Given the description of an element on the screen output the (x, y) to click on. 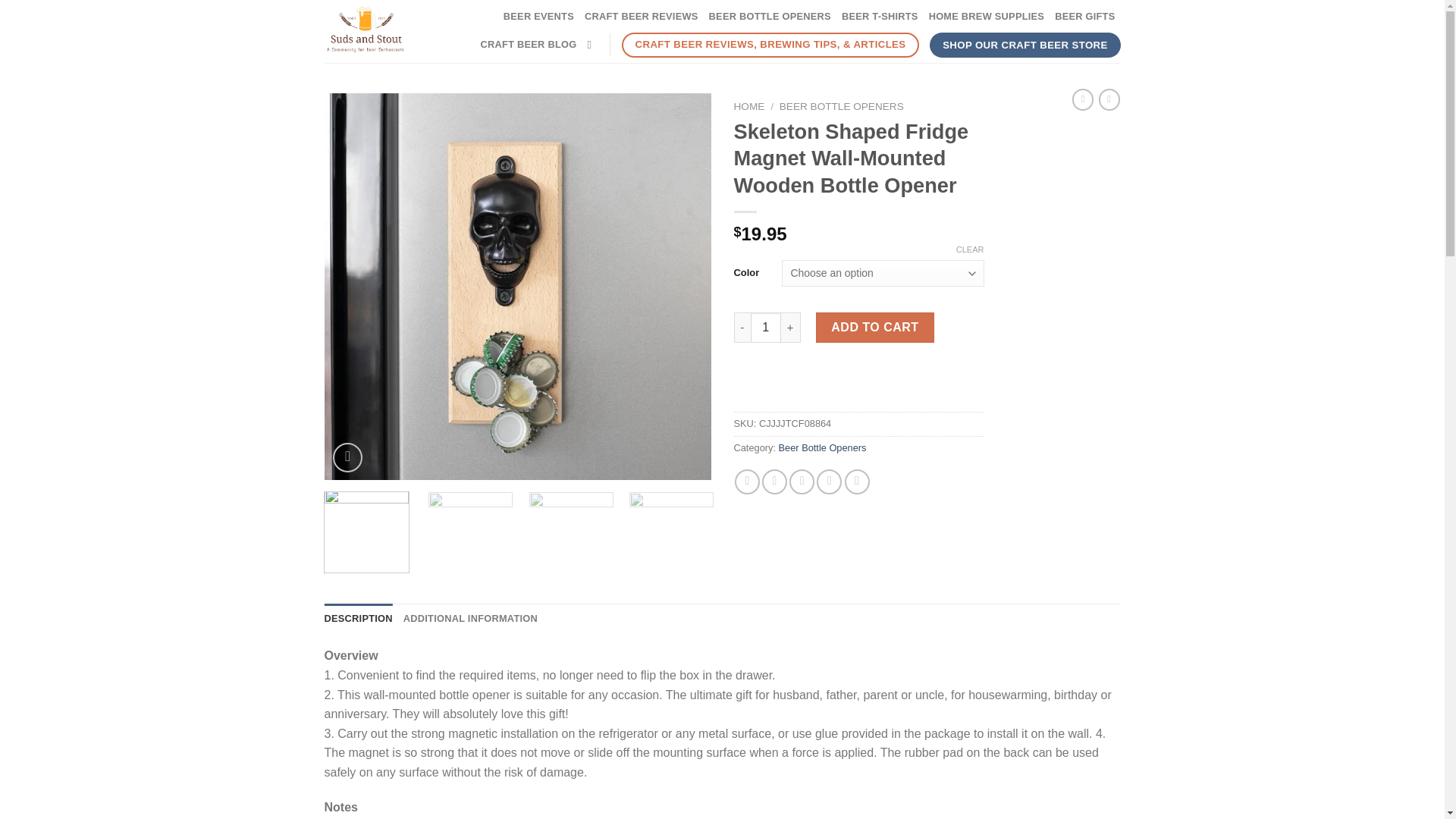
A Community for Beer Enthusiasts (365, 30)
SHOP OUR CRAFT BEER STORE (1024, 45)
BEER BOTTLE OPENERS (770, 16)
Beer Bottle Openers (822, 447)
BEER EVENTS (538, 16)
Zoom (347, 457)
CRAFT BEER REVIEWS (641, 16)
Share on Twitter (774, 481)
BEER BOTTLE OPENERS (841, 106)
